Given the description of an element on the screen output the (x, y) to click on. 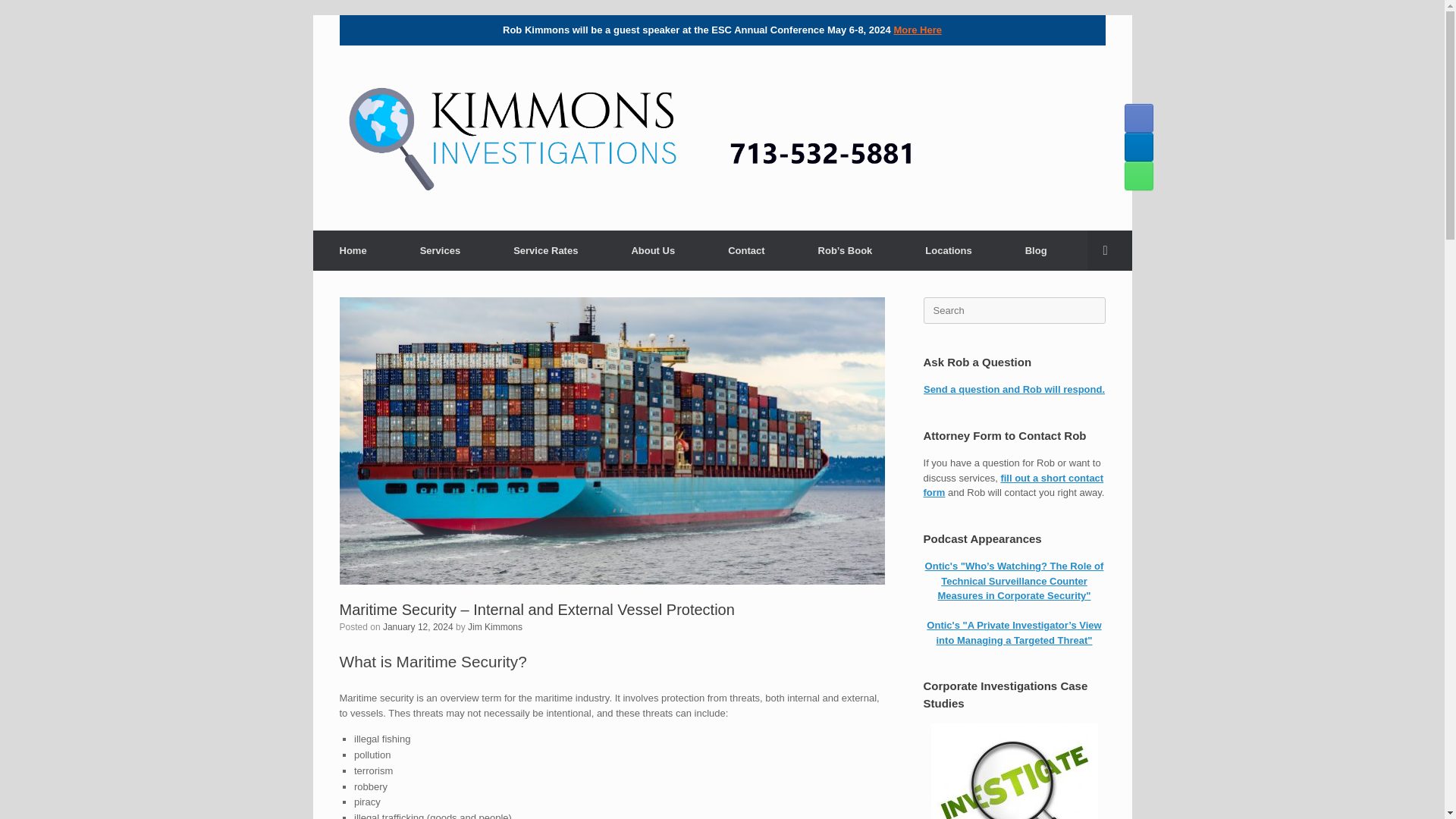
2:46 pm (417, 626)
Home (353, 250)
Kimmons Investigative Services, Inc. Phone (1138, 175)
Kimmons Investigative Services, Inc. LinkedIn (1138, 146)
View all posts by Jim Kimmons (494, 626)
Kimmons Investigative Services, Inc. Facebook (1138, 118)
Kimmons Investigative Services, Inc. (722, 136)
More Here (917, 30)
Service Rates (545, 250)
Services (440, 250)
About Us (652, 250)
